Given the description of an element on the screen output the (x, y) to click on. 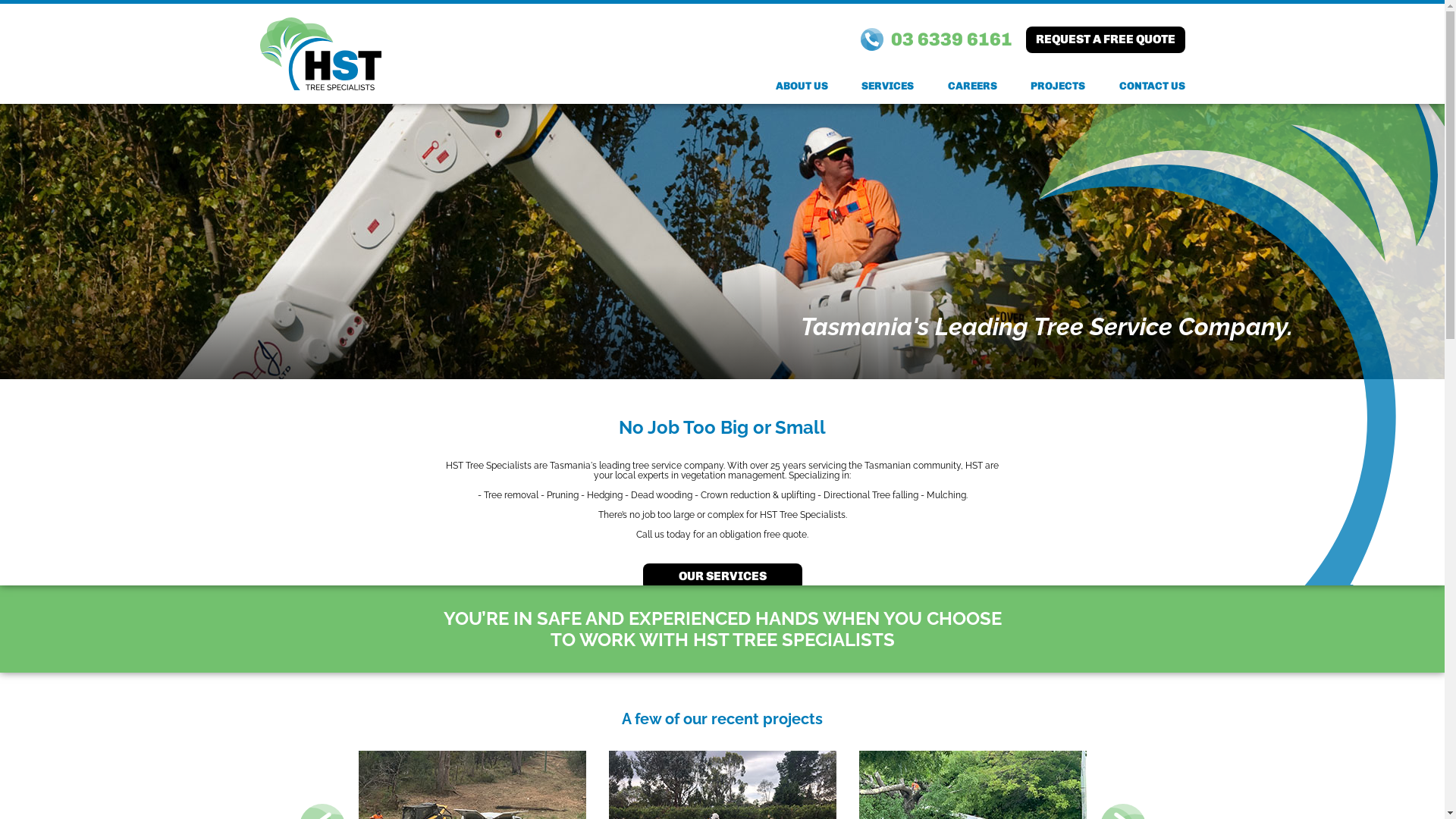
OUR SERVICES Element type: text (722, 576)
PROJECTS Element type: text (1057, 85)
03 6339 6161 Element type: text (935, 39)
CAREERS Element type: text (972, 85)
SERVICES Element type: text (887, 85)
REQUEST A FREE QUOTE Element type: text (1104, 38)
ABOUT US Element type: text (801, 85)
CONTACT US Element type: text (1152, 85)
